Given the description of an element on the screen output the (x, y) to click on. 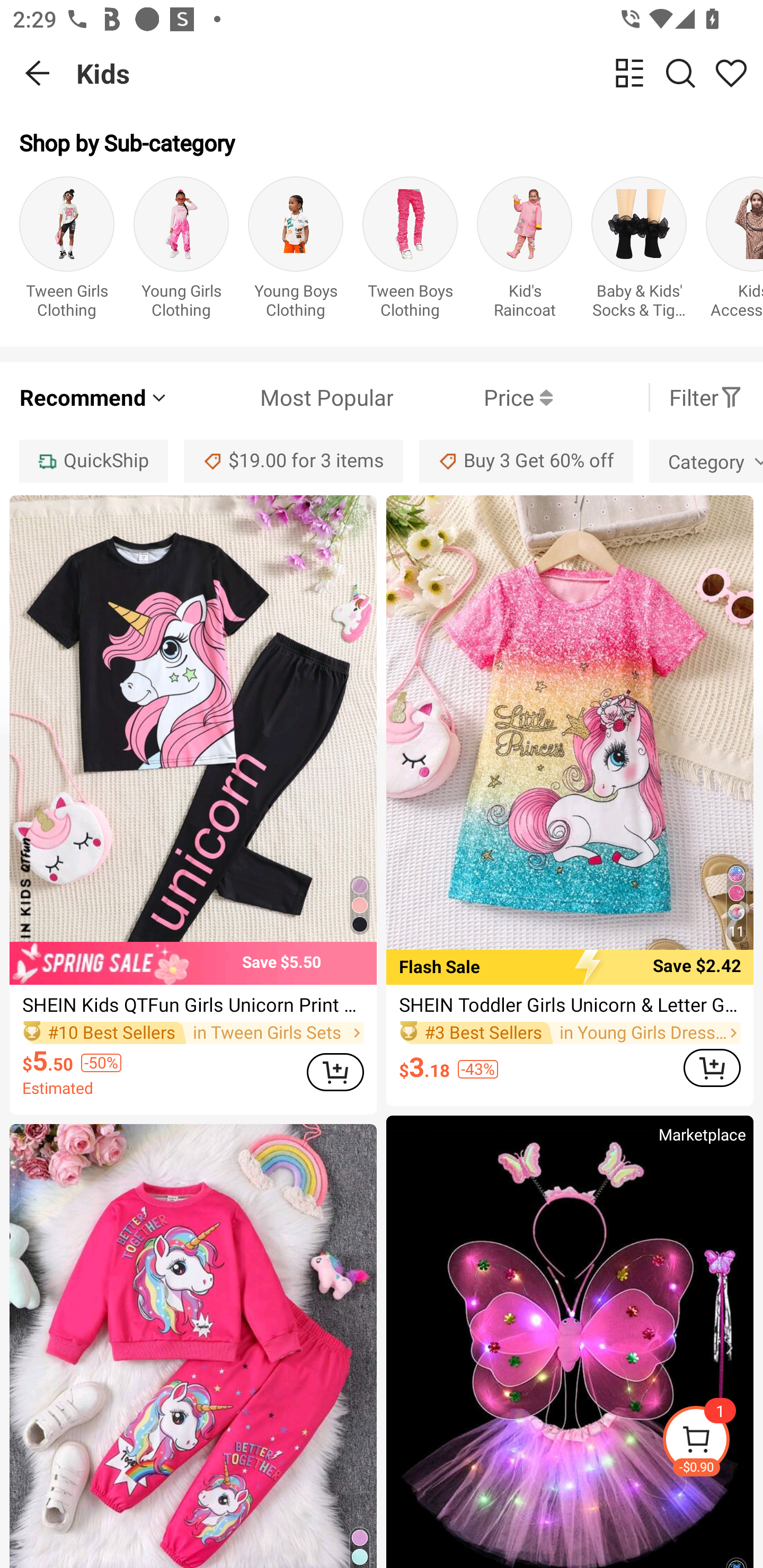
Kids change view Search Share (419, 72)
change view (629, 72)
Search (679, 72)
Share (730, 72)
Tween Girls Clothing (66, 251)
Young Girls Clothing (180, 251)
Young Boys Clothing (295, 251)
Tween Boys Clothing (409, 251)
Kid's Raincoat (524, 251)
Baby & Kids' Socks & Tights (638, 251)
Kids Accessories (734, 251)
Recommend (94, 397)
Most Popular (280, 397)
Price (472, 397)
Filter (705, 397)
QuickShip (93, 460)
$19.00 for 3 items (292, 460)
Buy 3 Get 60% off (525, 460)
Category (706, 460)
#10 Best Sellers in Tween Girls Sets (192, 1032)
#3 Best Sellers in Young Girls Dresses (569, 1032)
ADD TO CART (711, 1067)
ADD TO CART (334, 1072)
-$0.90 (712, 1441)
